Given the description of an element on the screen output the (x, y) to click on. 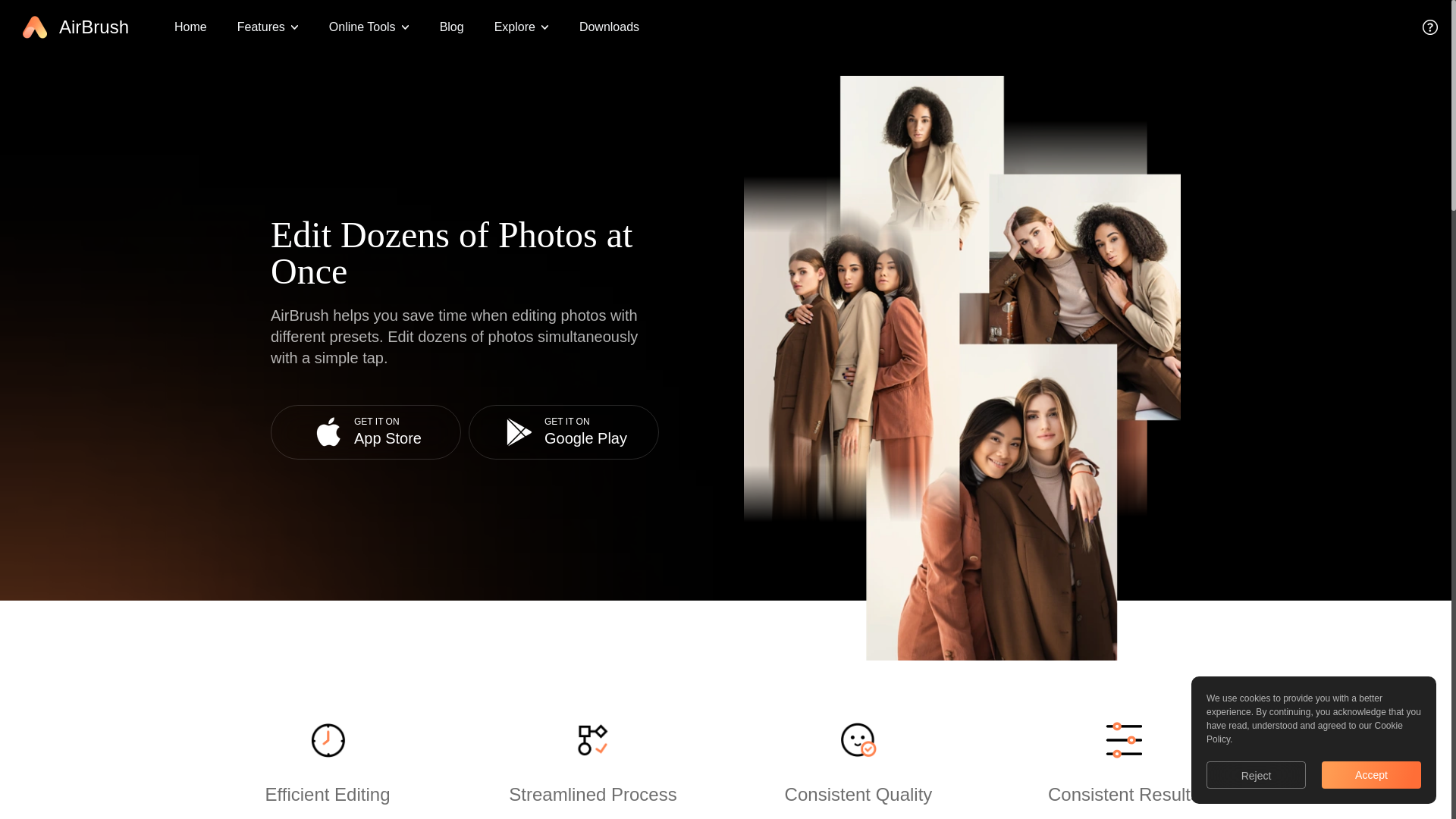
Downloads (563, 431)
Home (365, 431)
AppStore Download (609, 27)
Blog (190, 27)
AppStore Download (365, 431)
